Given the description of an element on the screen output the (x, y) to click on. 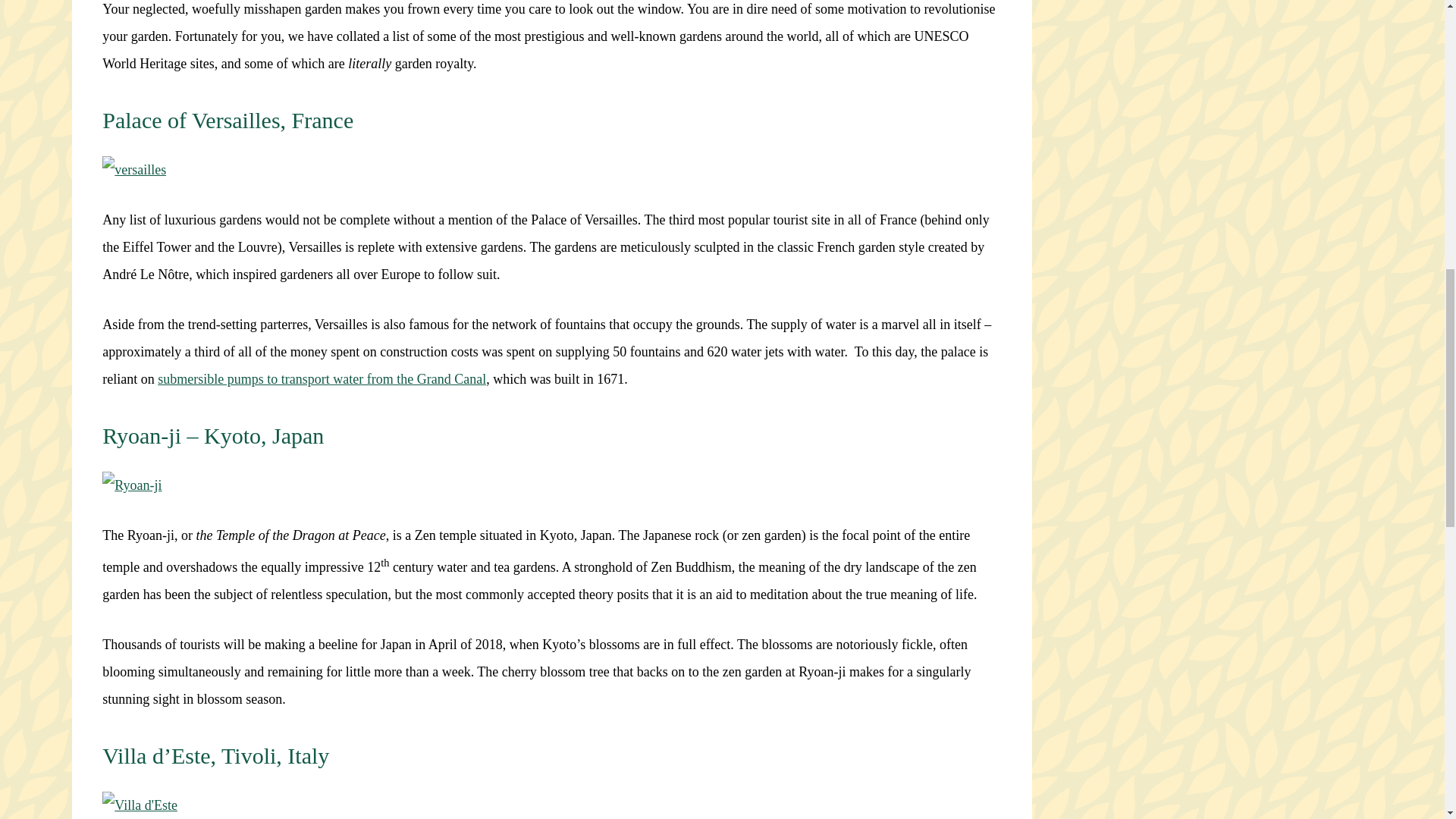
submersible pumps to transport water from the Grand Canal (321, 378)
